Given the description of an element on the screen output the (x, y) to click on. 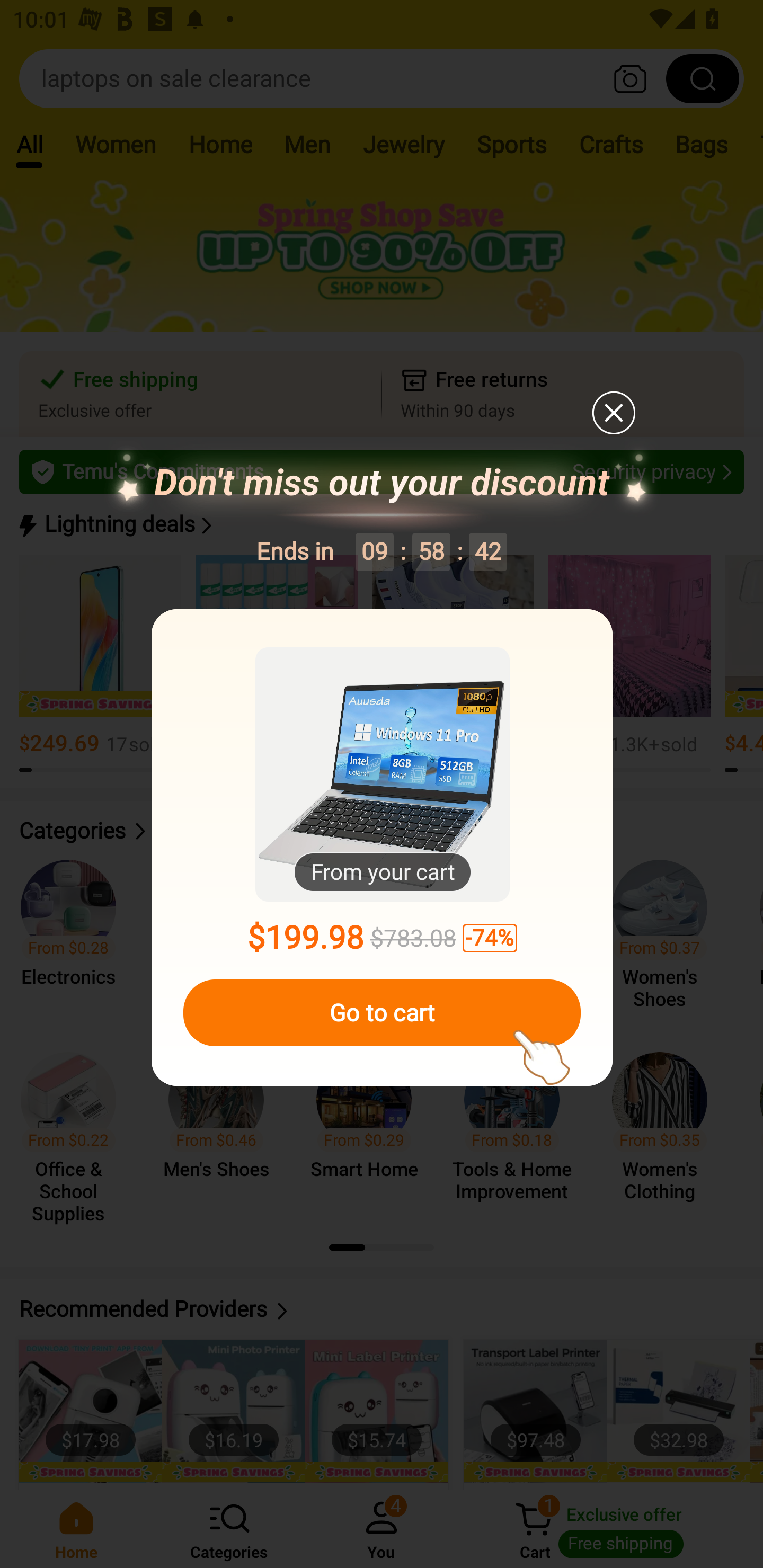
 (612, 412)
From your cart $199.98 $783.08 -74% Go to cart (381, 847)
Go to cart (381, 1012)
